Given the description of an element on the screen output the (x, y) to click on. 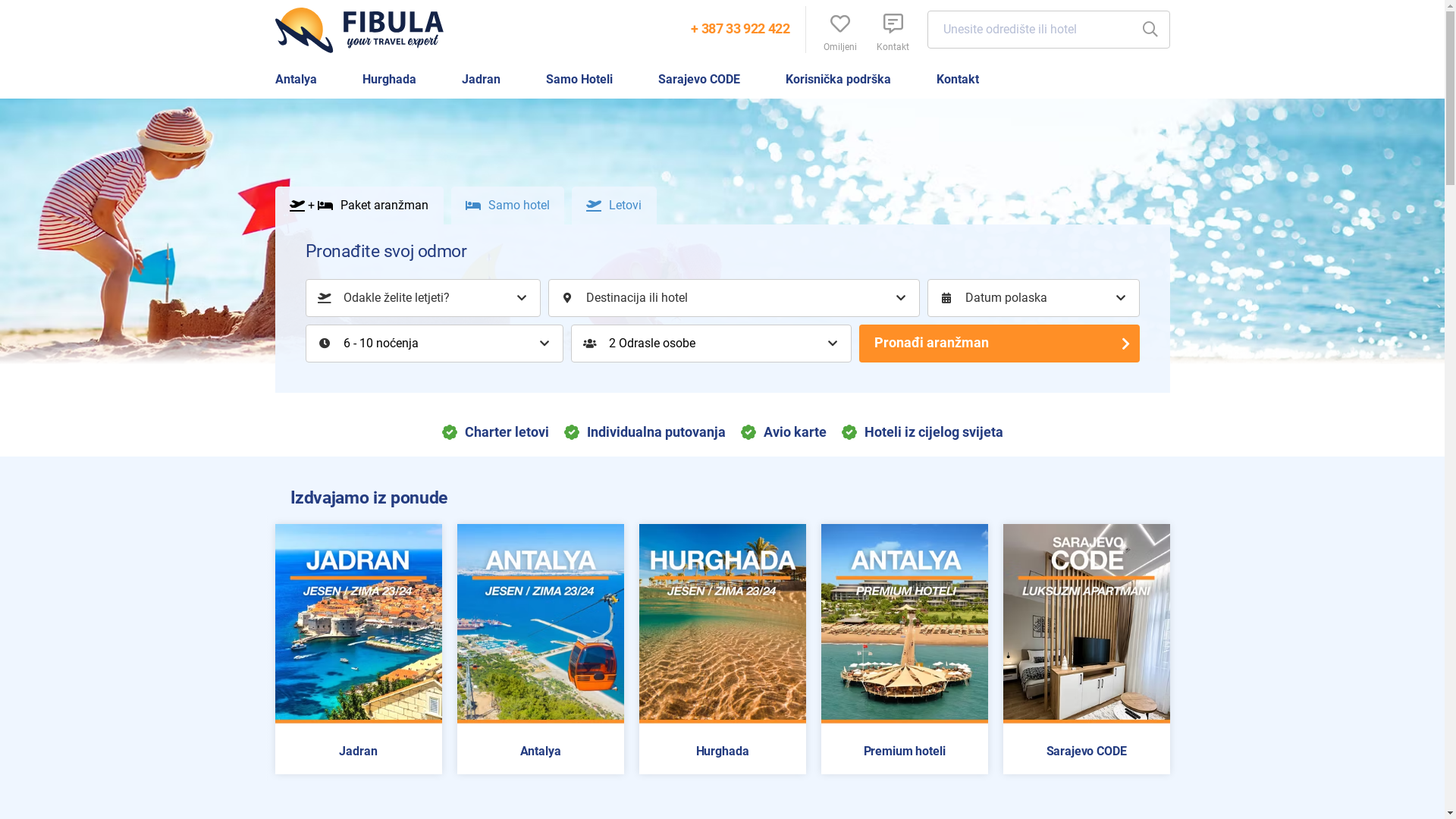
Kontakt Element type: text (956, 79)
Kontakt Element type: hover (892, 29)
+ 387 33 922 422 Element type: text (739, 29)
Jadran Element type: text (480, 79)
Sarajevo CODE Element type: text (699, 79)
Sarajevo CODE Element type: text (1085, 751)
Antalya Element type: text (295, 79)
2 Odrasle osobe Element type: text (710, 343)
Antalya Element type: text (539, 751)
Jadran Element type: text (357, 751)
Fibula Element type: hover (365, 30)
Hurghada Element type: text (721, 751)
Premium hoteli Element type: text (903, 751)
Hurghada Element type: text (389, 79)
Samo Hoteli Element type: text (579, 79)
Omiljeni Element type: hover (839, 29)
